Given the description of an element on the screen output the (x, y) to click on. 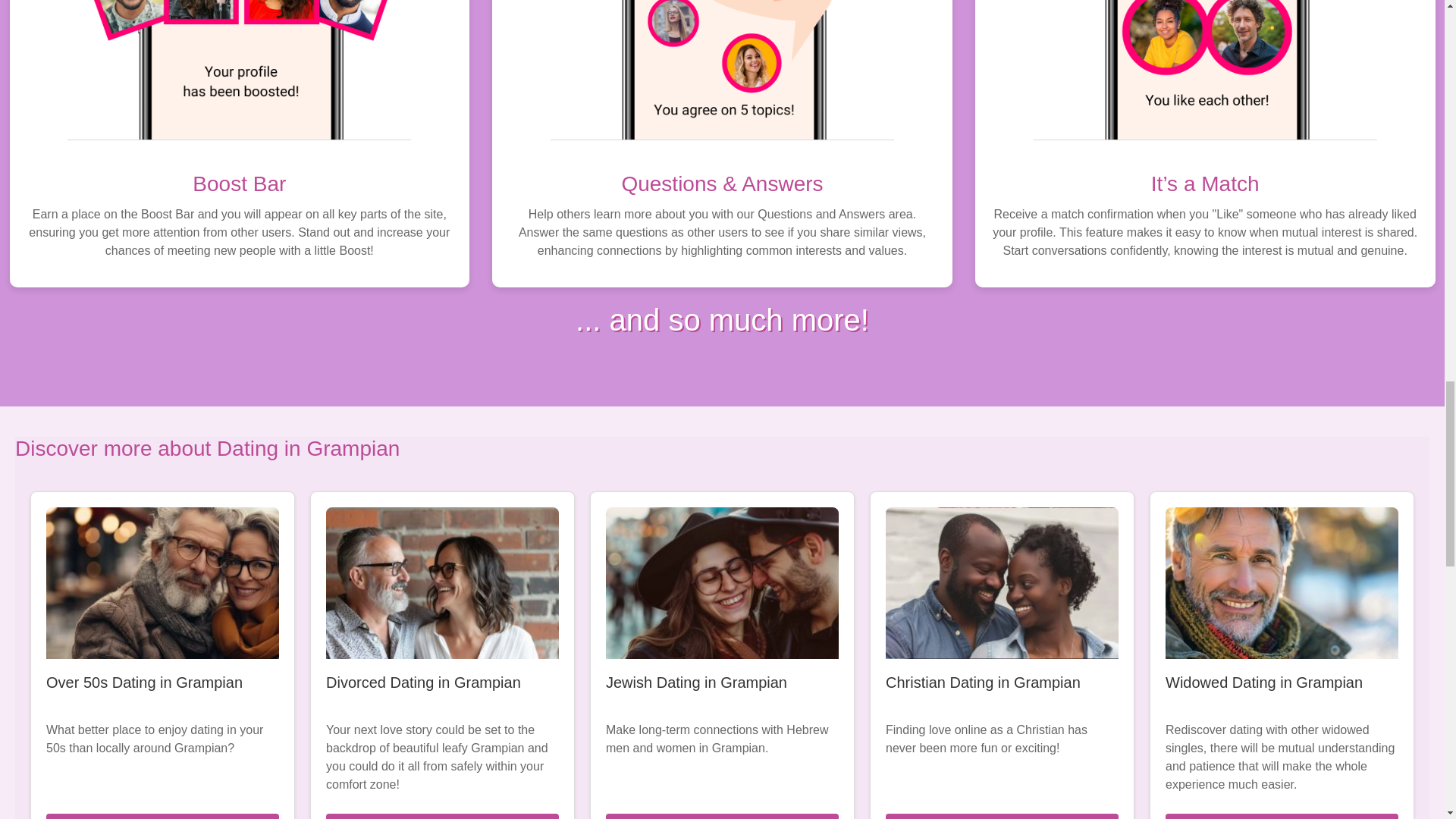
Read more (442, 816)
Read more (1001, 816)
Read more (721, 816)
Read more (1281, 816)
Read more (162, 816)
